Given the description of an element on the screen output the (x, y) to click on. 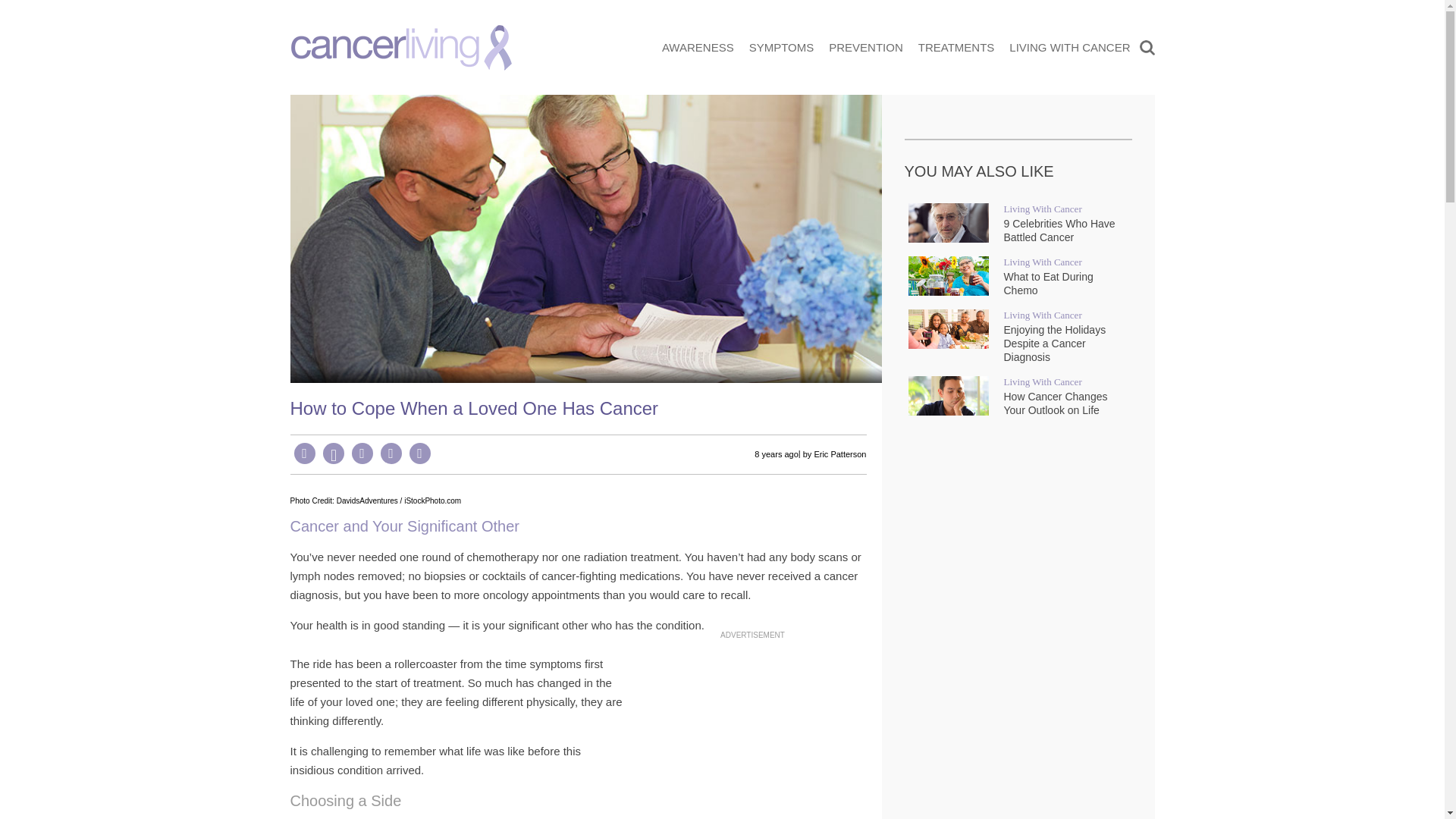
AWARENESS (697, 47)
Pinterest (333, 453)
iStockPhoto.com (432, 500)
TREATMENTS (956, 47)
Advertisement (752, 732)
Messenger (362, 453)
Eric Patterson (839, 454)
Twitter (390, 453)
Email (419, 453)
Facebook (304, 453)
DavidsAdventures (366, 500)
LIVING WITH CANCER (1069, 47)
CancerLiving.today (400, 47)
SYMPTOMS (781, 47)
PREVENTION (865, 47)
